Given the description of an element on the screen output the (x, y) to click on. 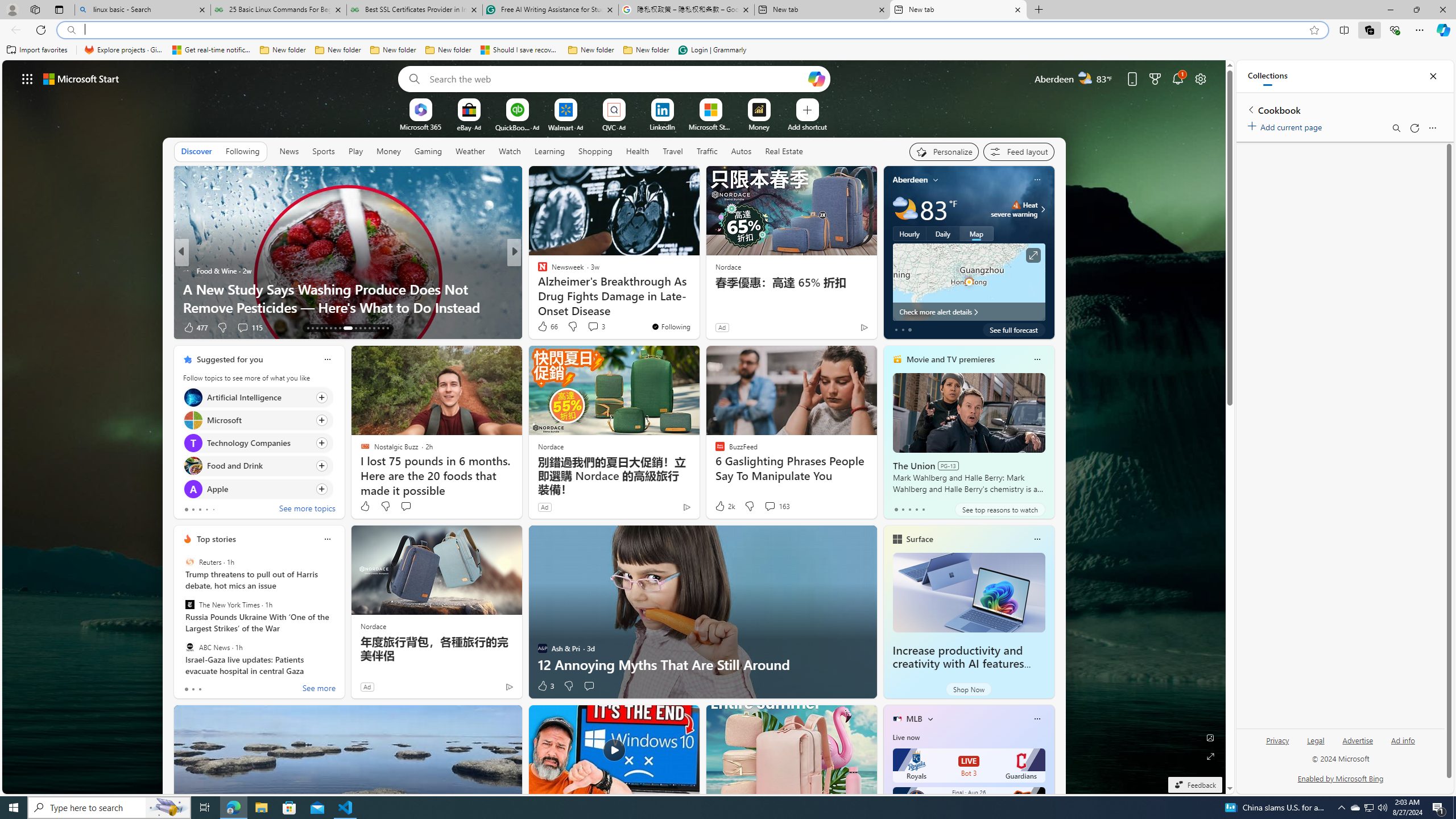
Health (637, 151)
Enter your search term (617, 78)
AutomationID: backgroundImagePicture (613, 426)
Microsoft (192, 419)
Check more alert details (968, 311)
Personalize your feed" (943, 151)
107 Like (545, 327)
Weather (470, 151)
Learning (549, 151)
Heat - Severe Heat severe warning (1014, 208)
Add current page (1286, 124)
